Given the description of an element on the screen output the (x, y) to click on. 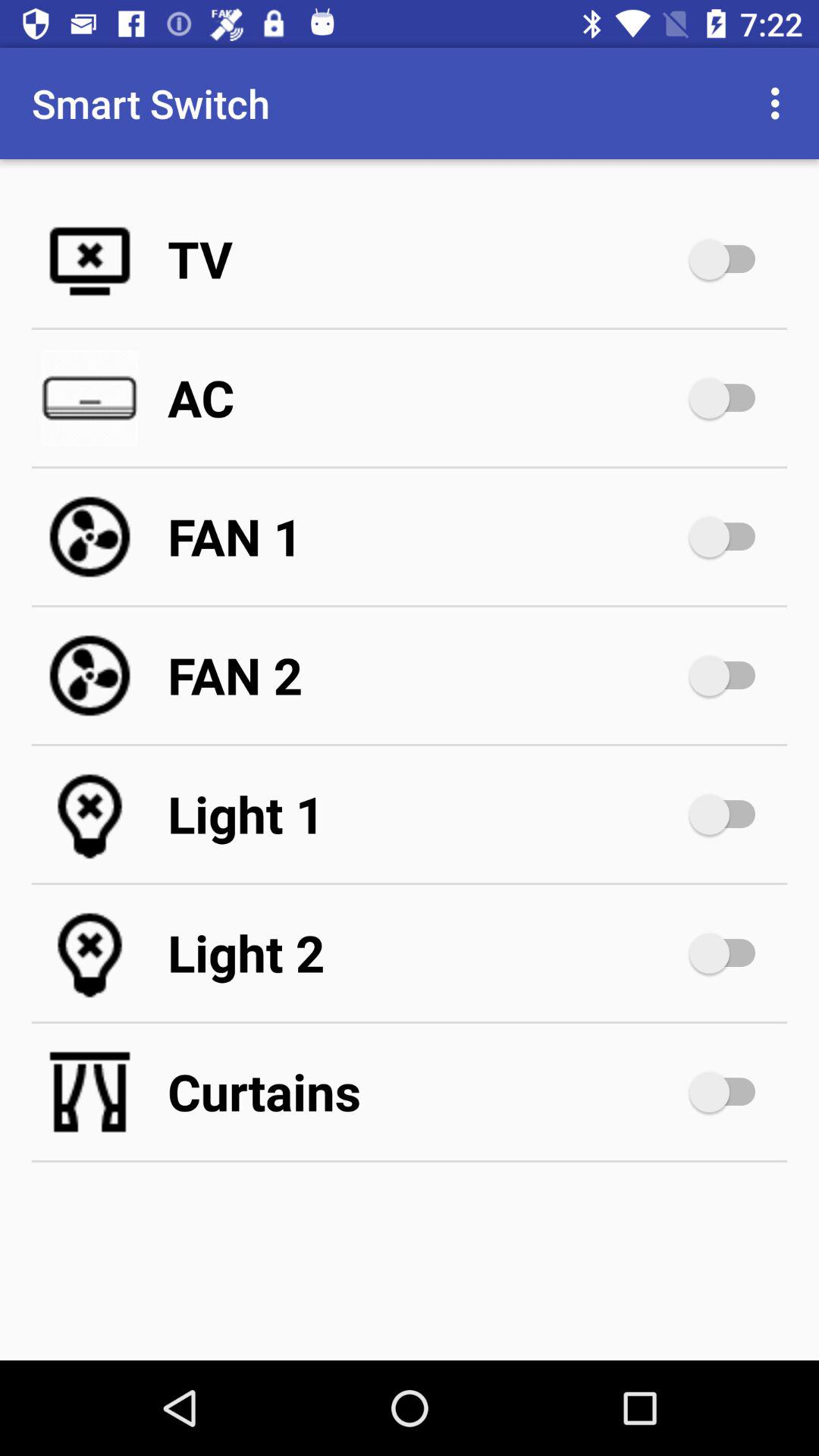
launch app to the right of smart switch item (779, 103)
